Given the description of an element on the screen output the (x, y) to click on. 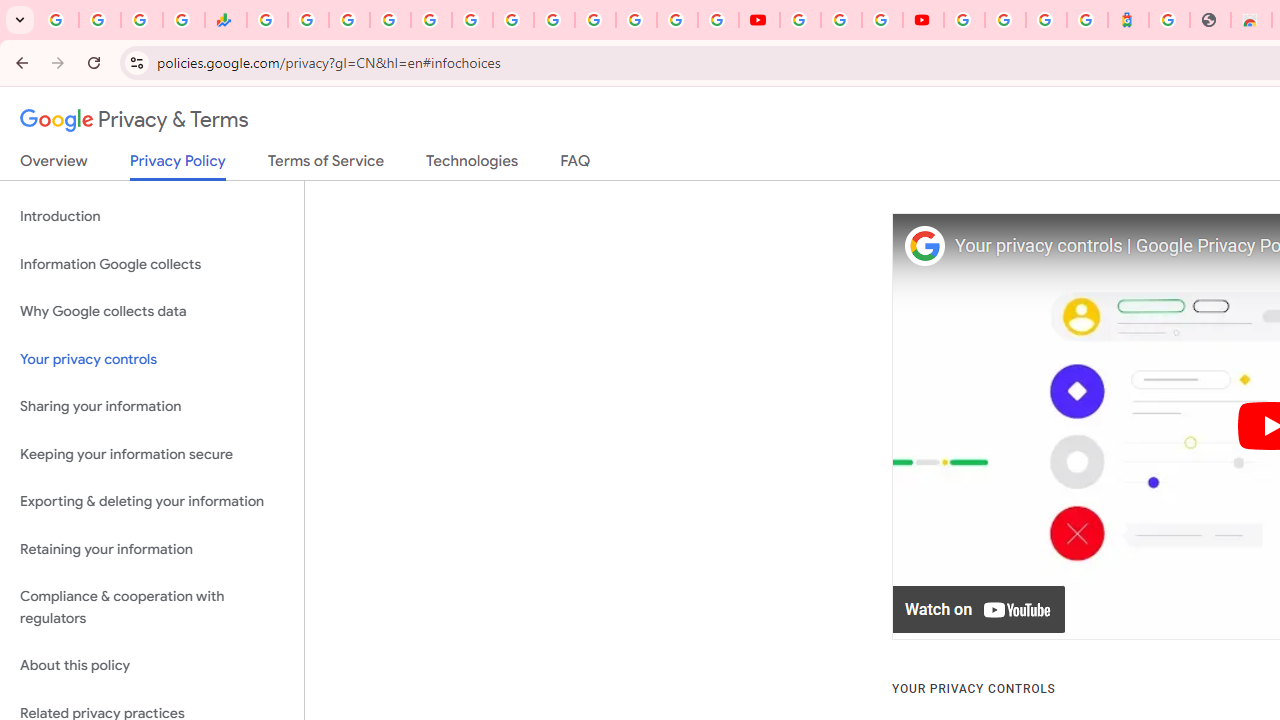
YouTube (799, 20)
Sign in - Google Accounts (1005, 20)
Privacy Checkup (717, 20)
